Given the description of an element on the screen output the (x, y) to click on. 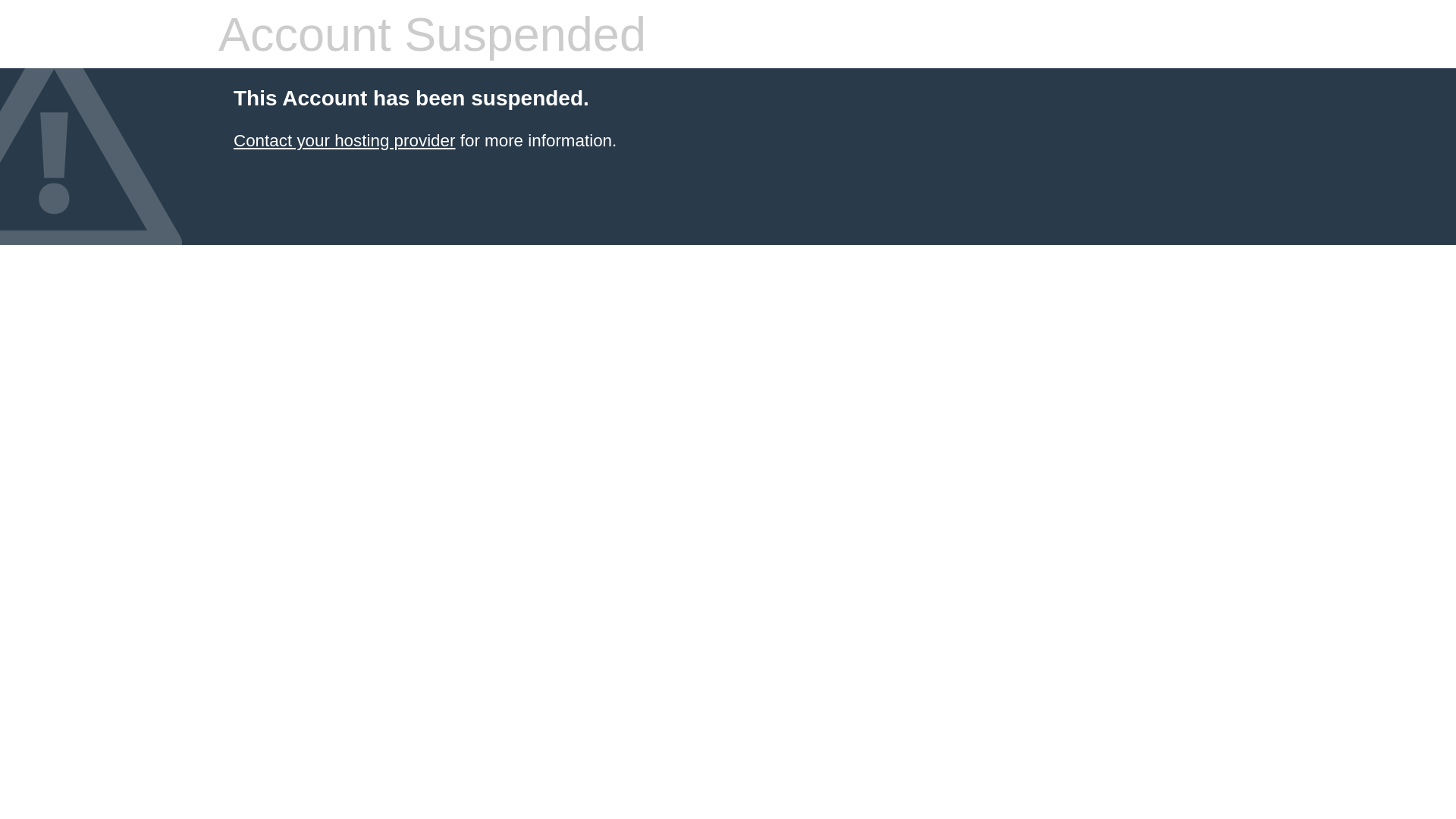
Contact your hosting provider Element type: text (344, 140)
